Given the description of an element on the screen output the (x, y) to click on. 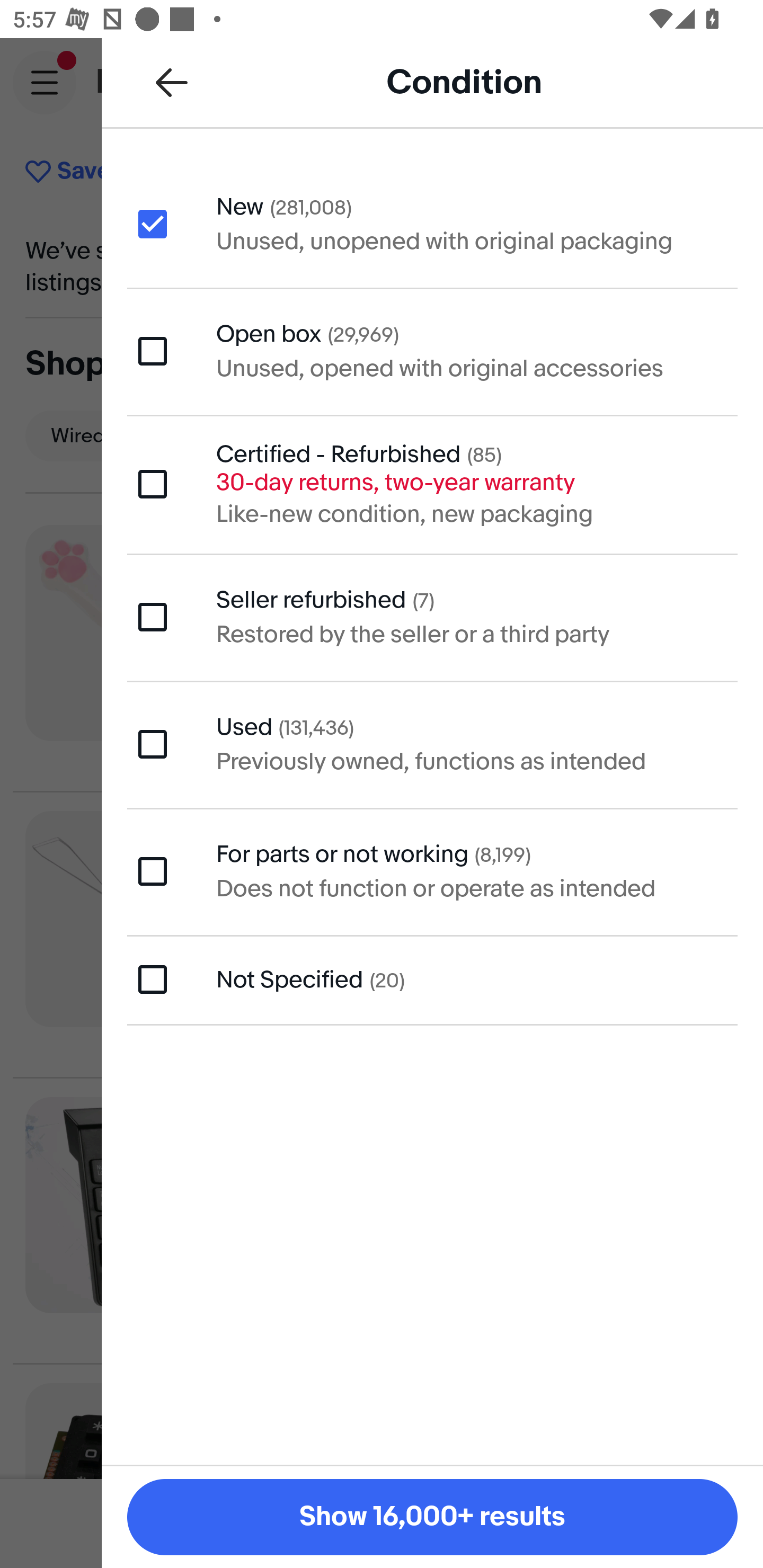
Back to all refinements (171, 81)
Not Specified (20) (432, 978)
Show 16,000+ results (432, 1516)
